Given the description of an element on the screen output the (x, y) to click on. 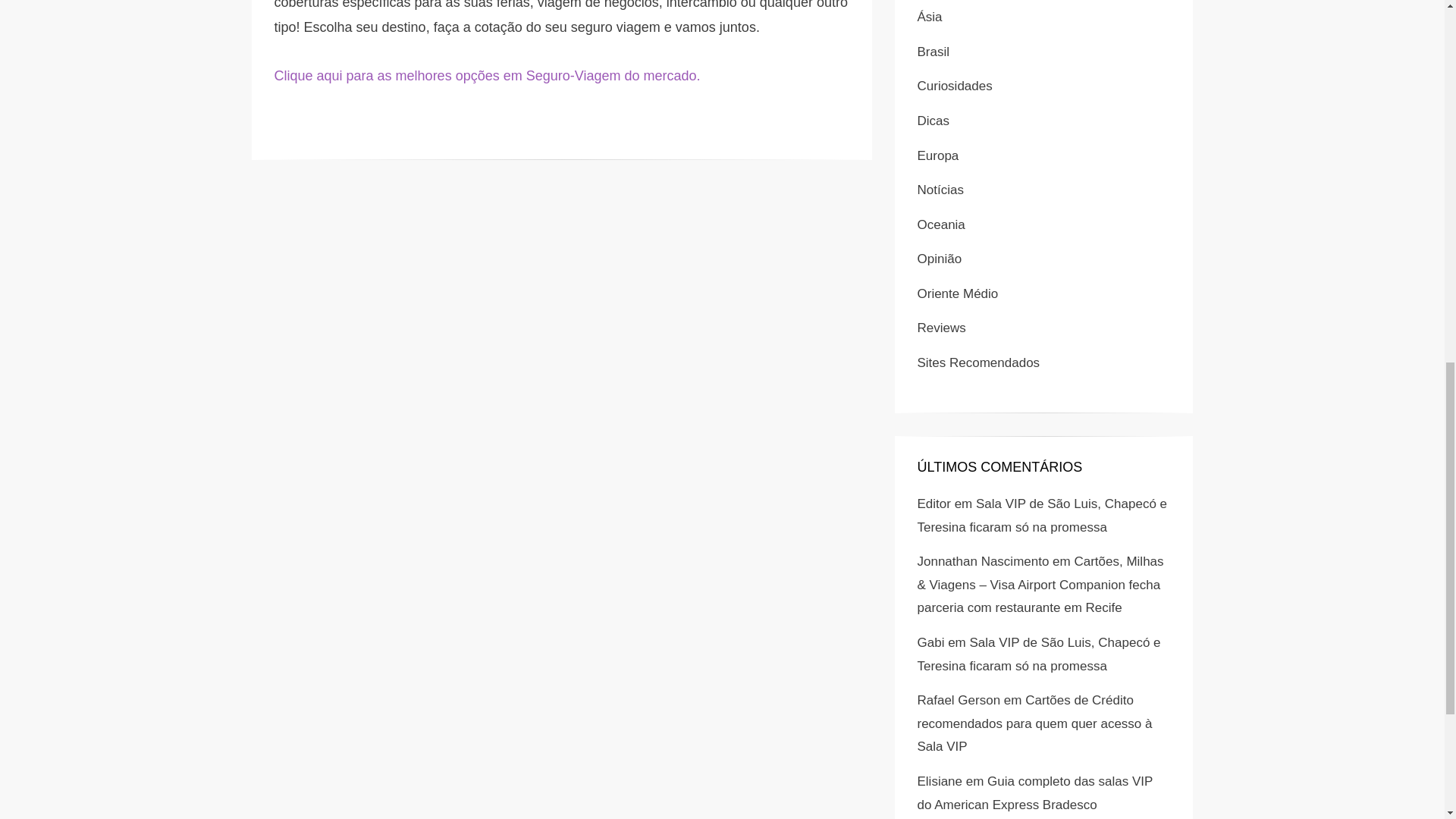
Brasil (933, 51)
Curiosidades (954, 85)
Sites Recomendados (979, 362)
Oceania (941, 224)
Dicas (933, 120)
Guia completo das salas VIP do American Express Bradesco (1035, 792)
Europa (938, 155)
Reviews (941, 327)
